Given the description of an element on the screen output the (x, y) to click on. 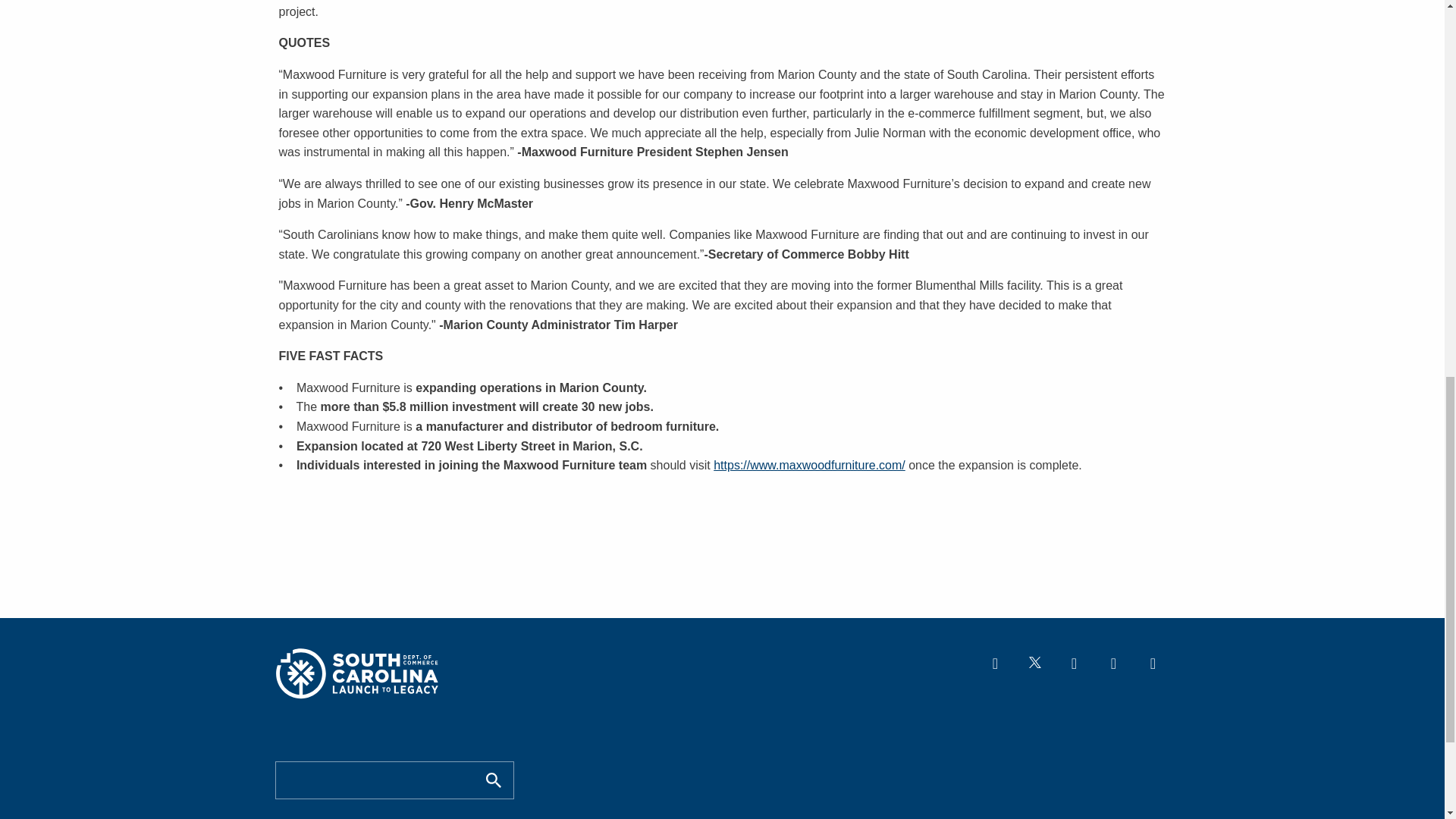
Search (493, 780)
Bitte geben Sie Ihre Suchbegriffe ein (377, 780)
